Given the description of an element on the screen output the (x, y) to click on. 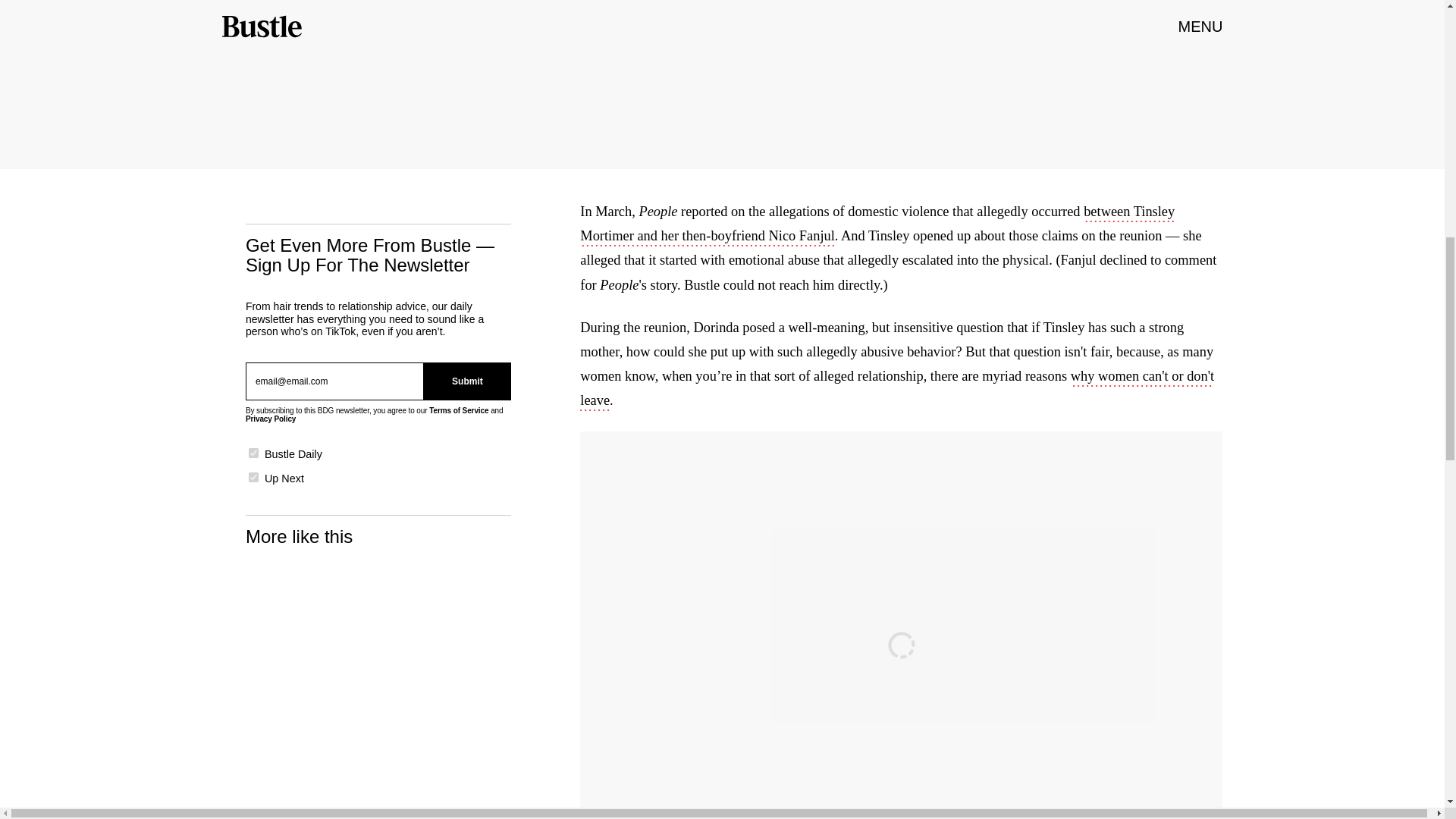
Terms of Service (458, 410)
between Tinsley Mortimer and her then-boyfriend Nico Fanjul (876, 224)
Privacy Policy (270, 418)
why women can't or don't leave (896, 389)
Submit (467, 381)
